Given the description of an element on the screen output the (x, y) to click on. 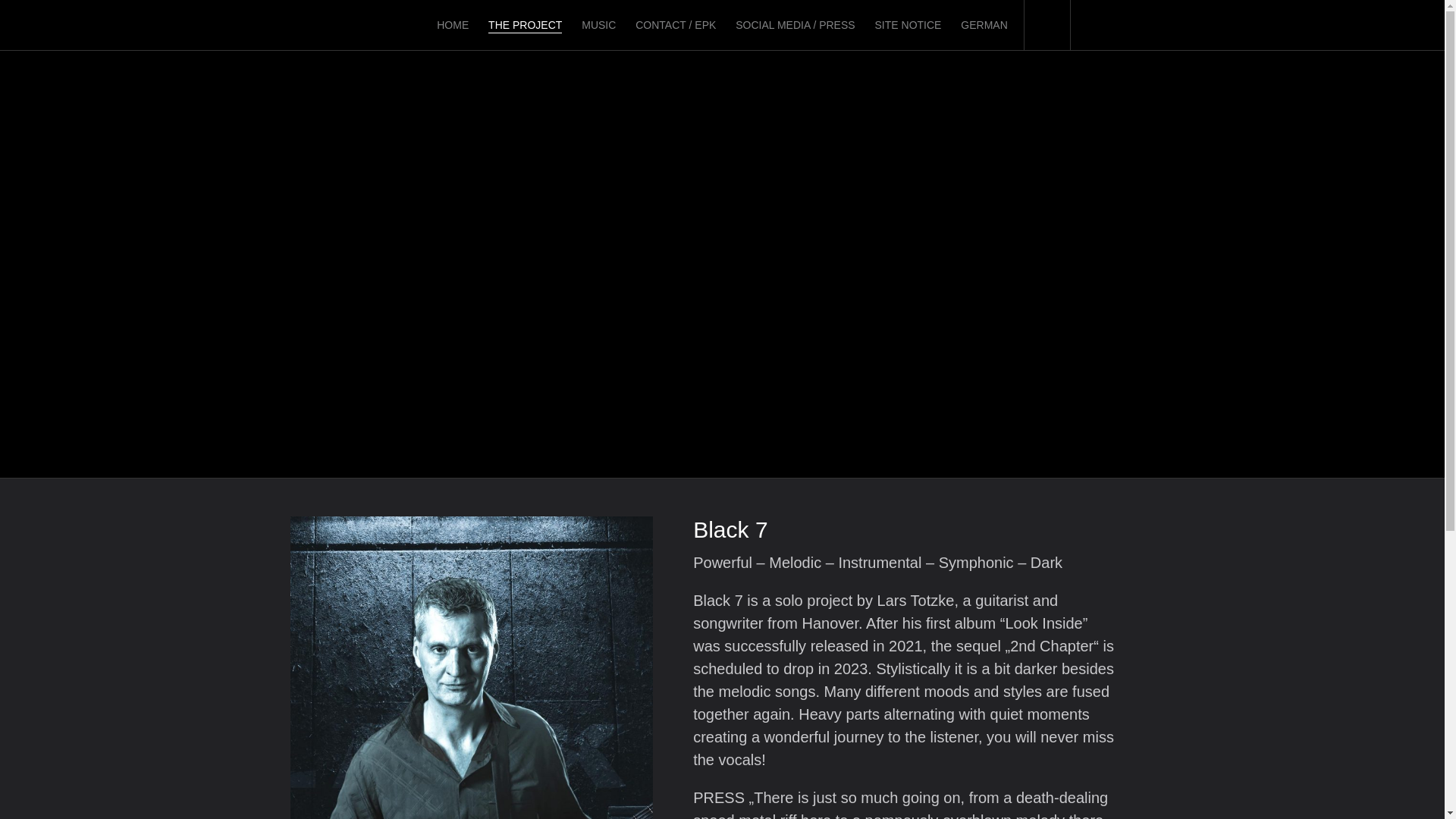
HOME (452, 24)
Search-Button (1046, 24)
THE PROJECT (524, 25)
MUSIC (597, 24)
GERMAN (983, 24)
SITE NOTICE (908, 24)
